Given the description of an element on the screen output the (x, y) to click on. 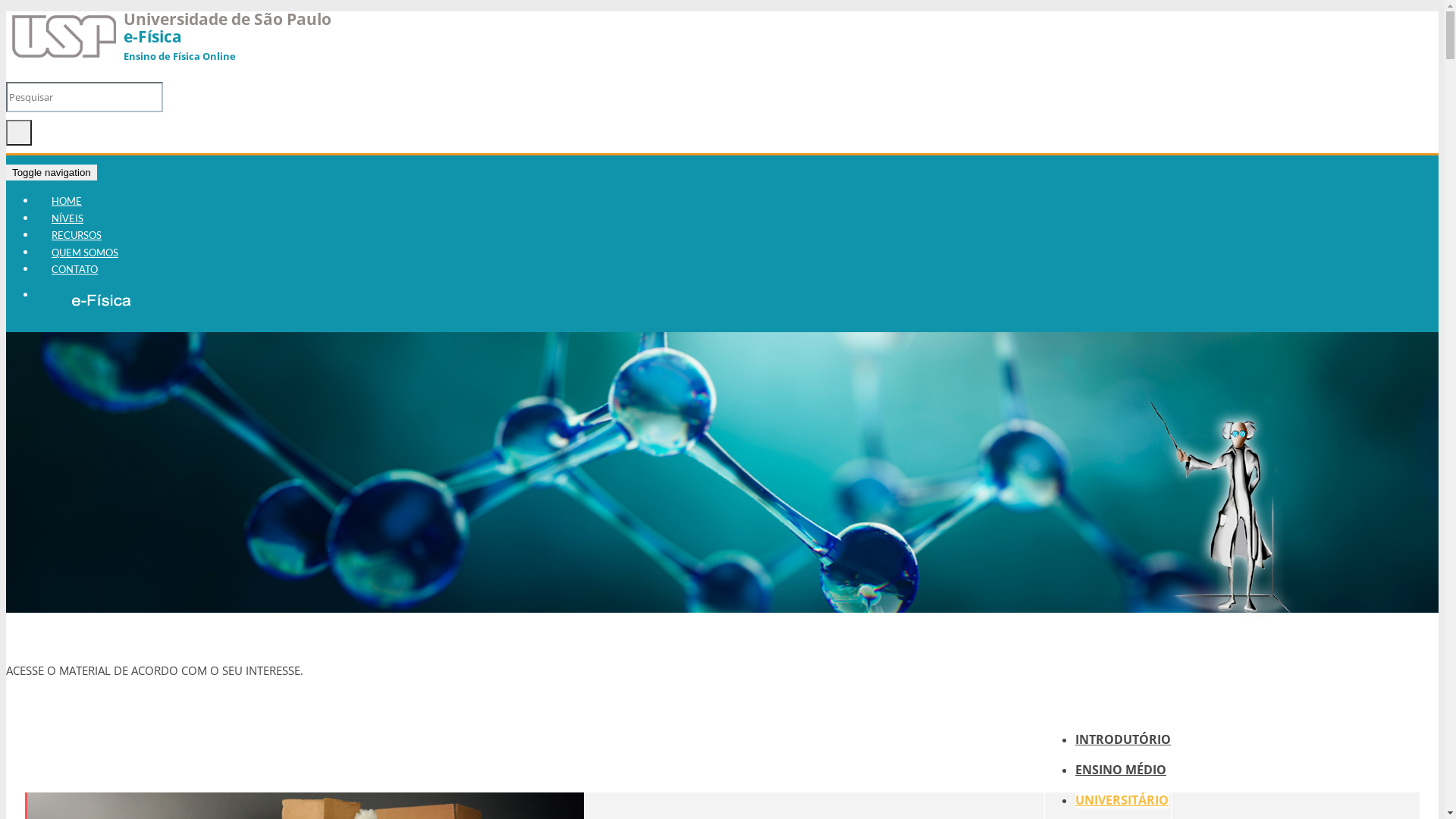
Toggle navigation Element type: text (51, 172)
CONTATO Element type: text (74, 269)
RECURSOS Element type: text (76, 234)
HOME Element type: text (66, 200)
QUEM SOMOS Element type: text (84, 252)
